Given the description of an element on the screen output the (x, y) to click on. 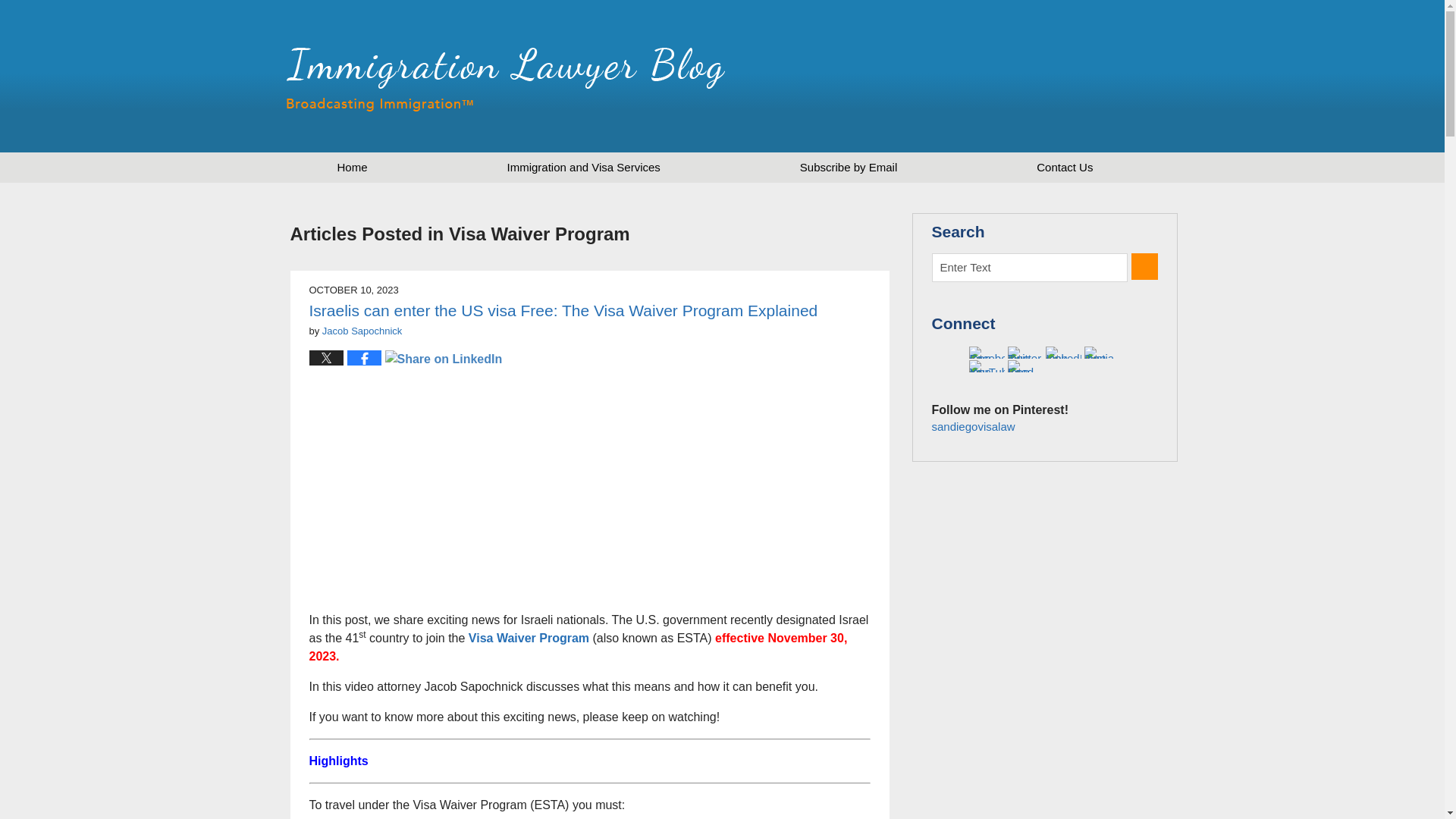
Subscribe by Email (848, 167)
Published by Sapochnick Law Firm (1066, 75)
Immigration and Visa Services (584, 167)
Immigration Lawyer Blog (505, 79)
Jacob Sapochnick (362, 330)
Visa Waiver Program (528, 637)
Contact Us (1063, 167)
